Given the description of an element on the screen output the (x, y) to click on. 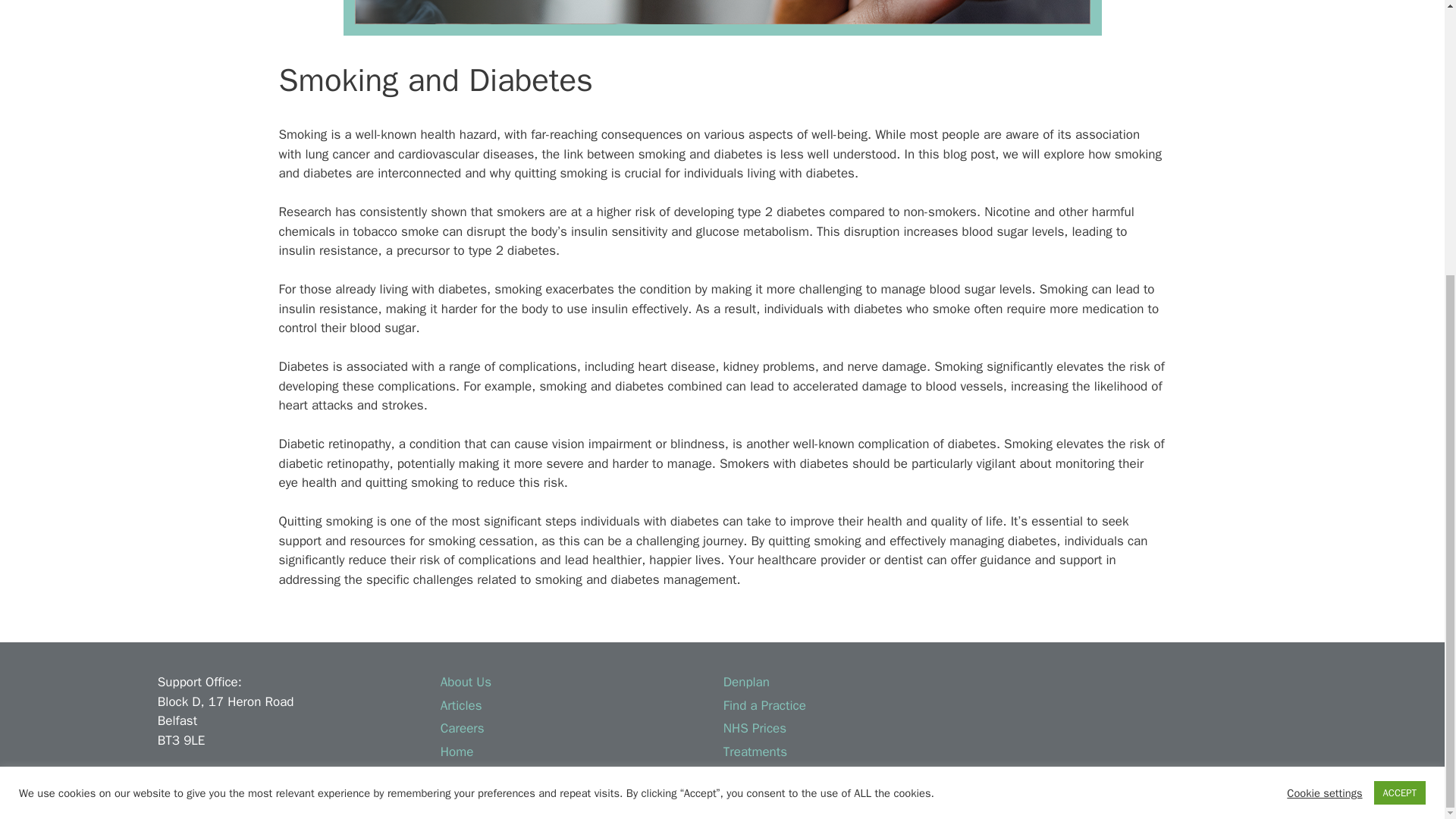
About Us (466, 682)
Find a Practice (764, 705)
Home (457, 751)
Cookie settings (1324, 386)
ACCEPT (1399, 386)
Denplan (746, 682)
Treatments (755, 751)
Careers (462, 728)
Articles (461, 705)
NHS Prices (754, 728)
